Given the description of an element on the screen output the (x, y) to click on. 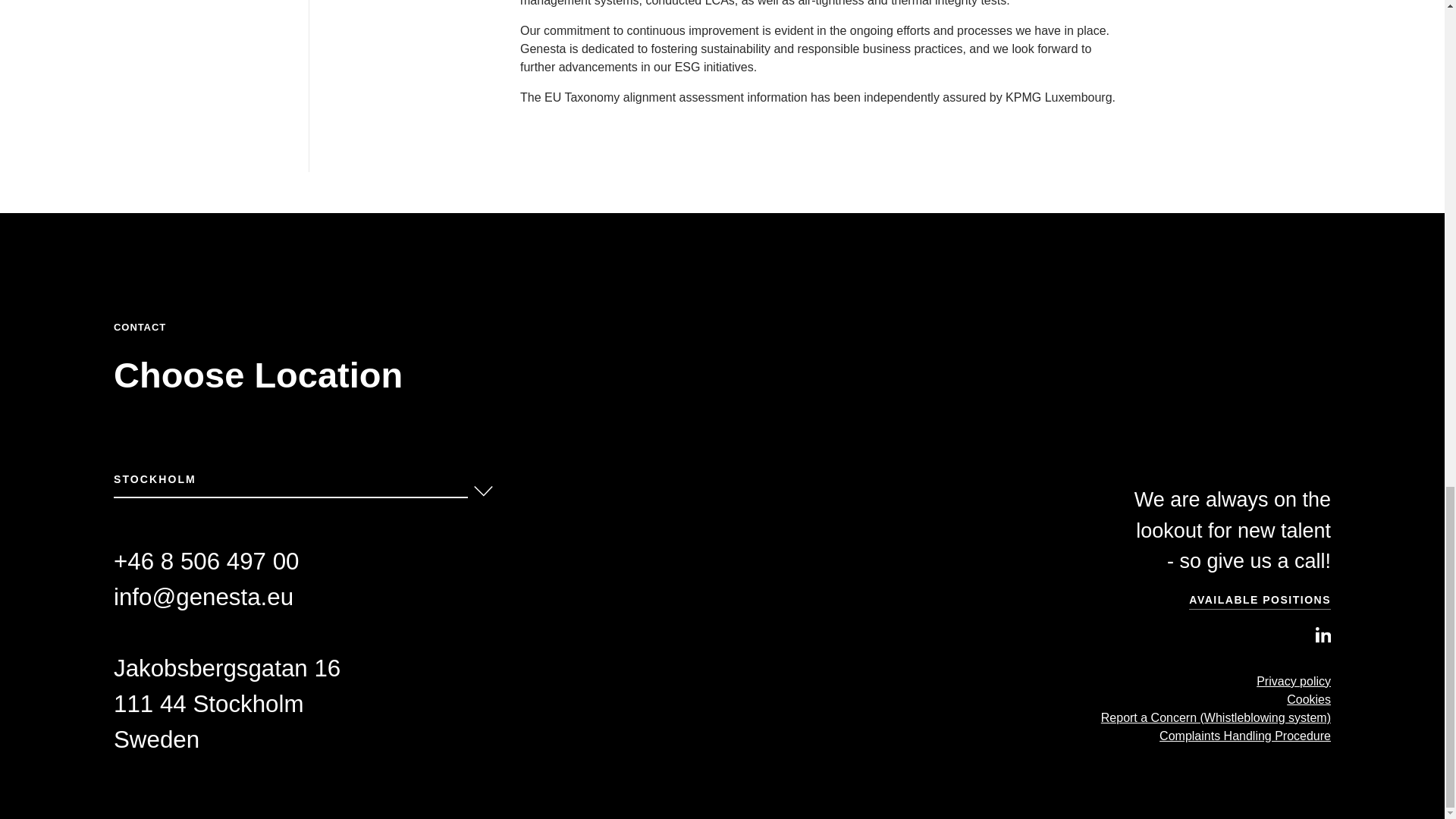
Privacy policy (1293, 681)
Complaints Handling Procedure (1244, 736)
Cookies (1308, 700)
AVAILABLE POSITIONS (1259, 600)
View available positions at Genesta (1259, 600)
Send an email to our Stockholm office (203, 596)
Give our Stockholm office a call (206, 560)
